Given the description of an element on the screen output the (x, y) to click on. 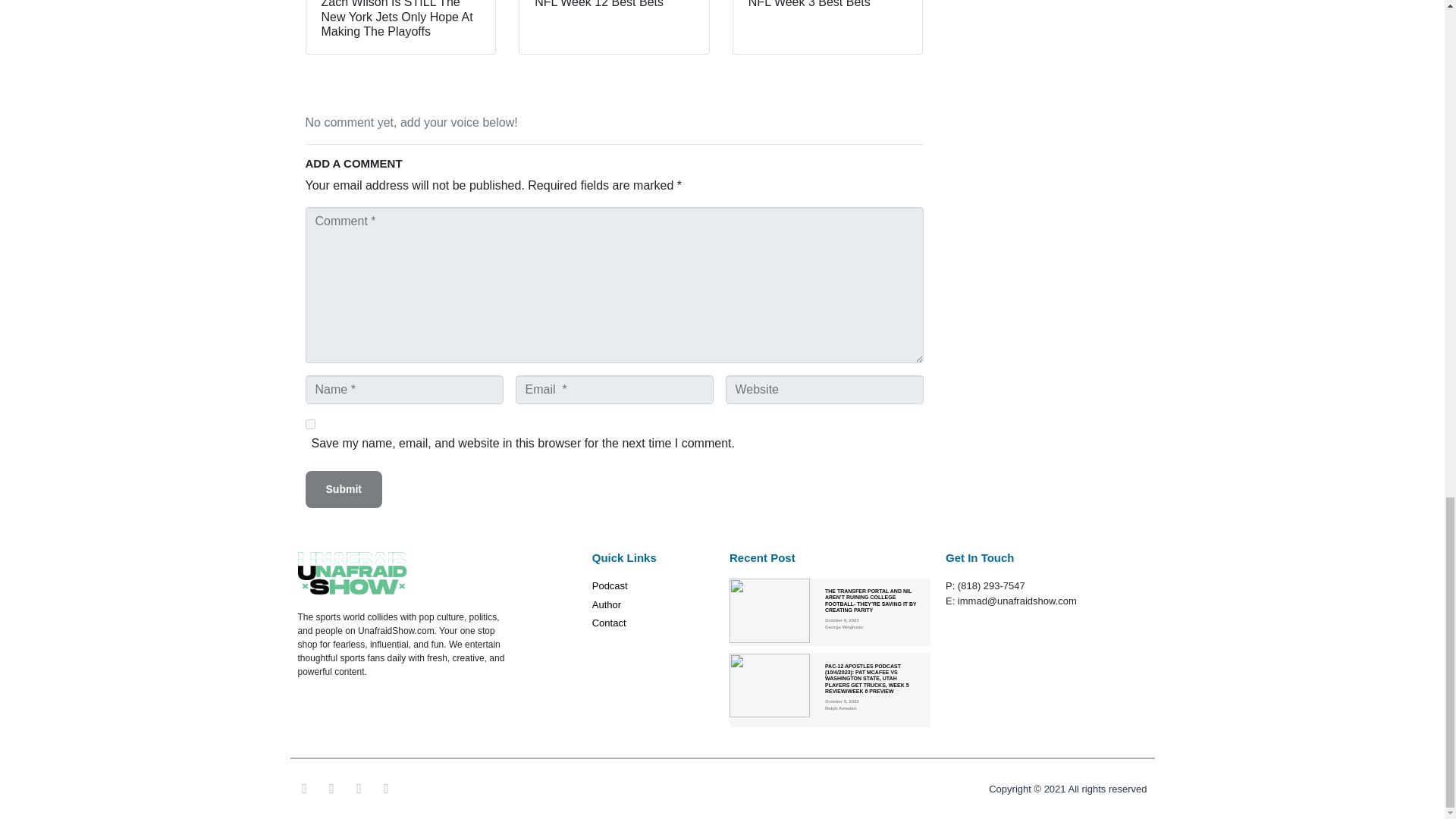
yes (309, 424)
